Given the description of an element on the screen output the (x, y) to click on. 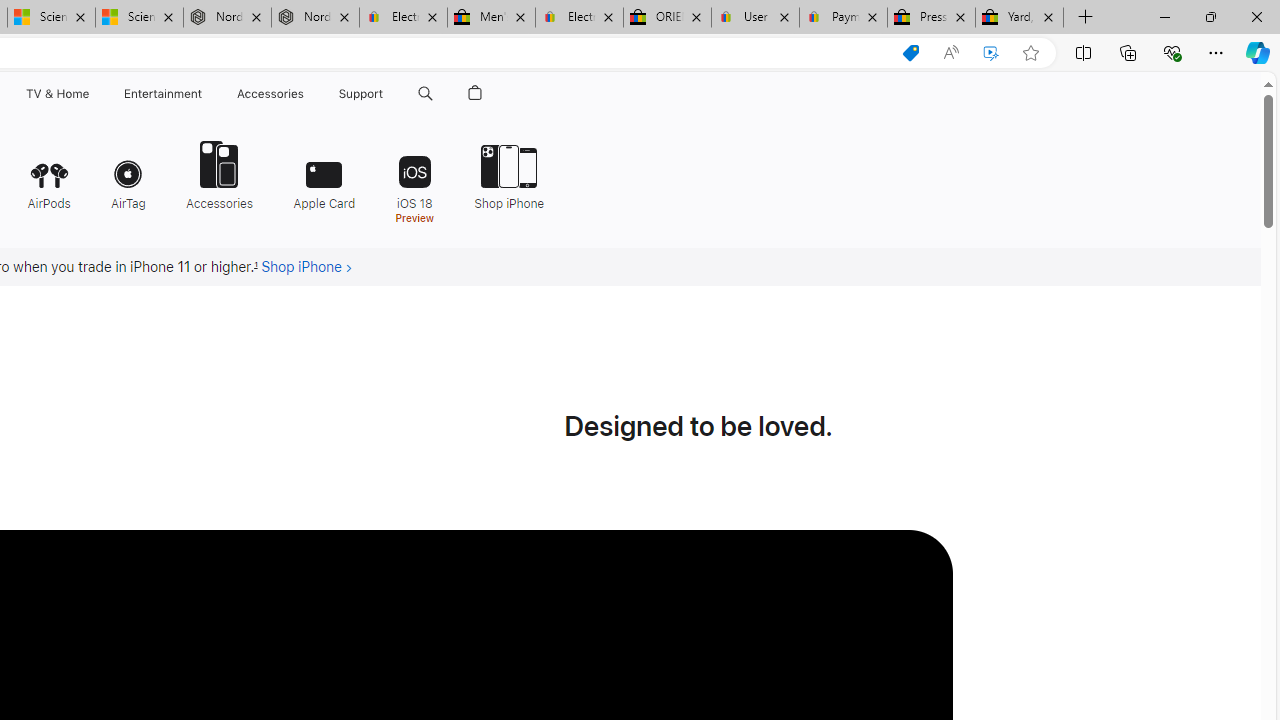
Apple Card (324, 173)
Enhance video (991, 53)
Yard, Garden & Outdoor Living (1019, 17)
TV and Home menu (92, 93)
Press Room - eBay Inc. (931, 17)
iOS 18Preview (414, 179)
iOS 18 Preview (414, 179)
Accessories (219, 173)
Support menu (387, 93)
Shop iPhone (501, 173)
Accessories (219, 173)
